Given the description of an element on the screen output the (x, y) to click on. 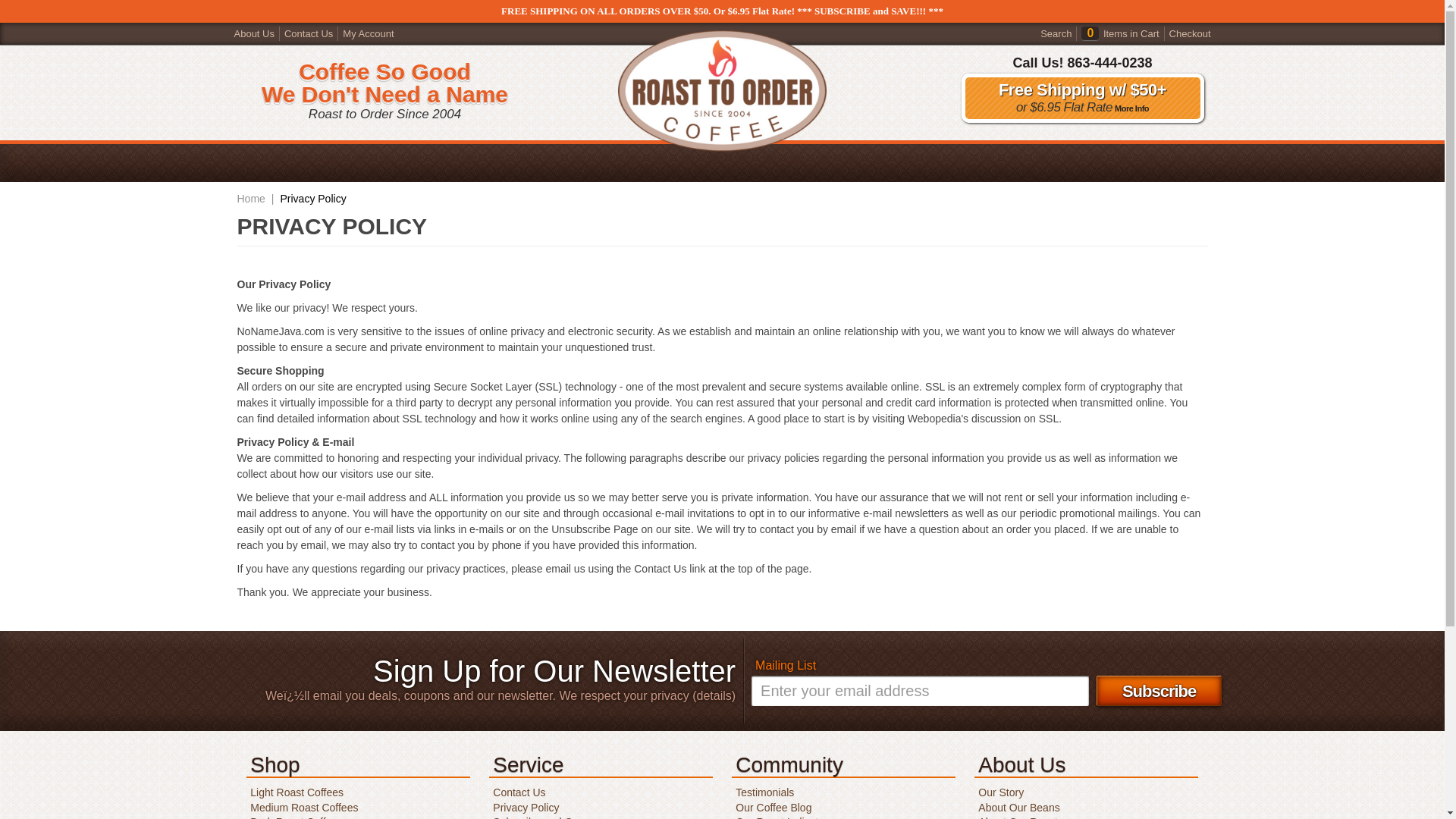
More Info (1130, 108)
Medium Roast Coffees (302, 807)
Light Roast Coffees (294, 792)
About Our Roaster (1020, 817)
Subscribe-and-Save (539, 817)
About Us (252, 32)
Subscribe (1158, 690)
Testimonials (762, 792)
Contact Us (516, 792)
Contact Us (308, 32)
Items in Cart (1129, 32)
Our Story (998, 792)
My Account (367, 32)
Privacy Policy (313, 198)
Our Coffee Blog (771, 807)
